Given the description of an element on the screen output the (x, y) to click on. 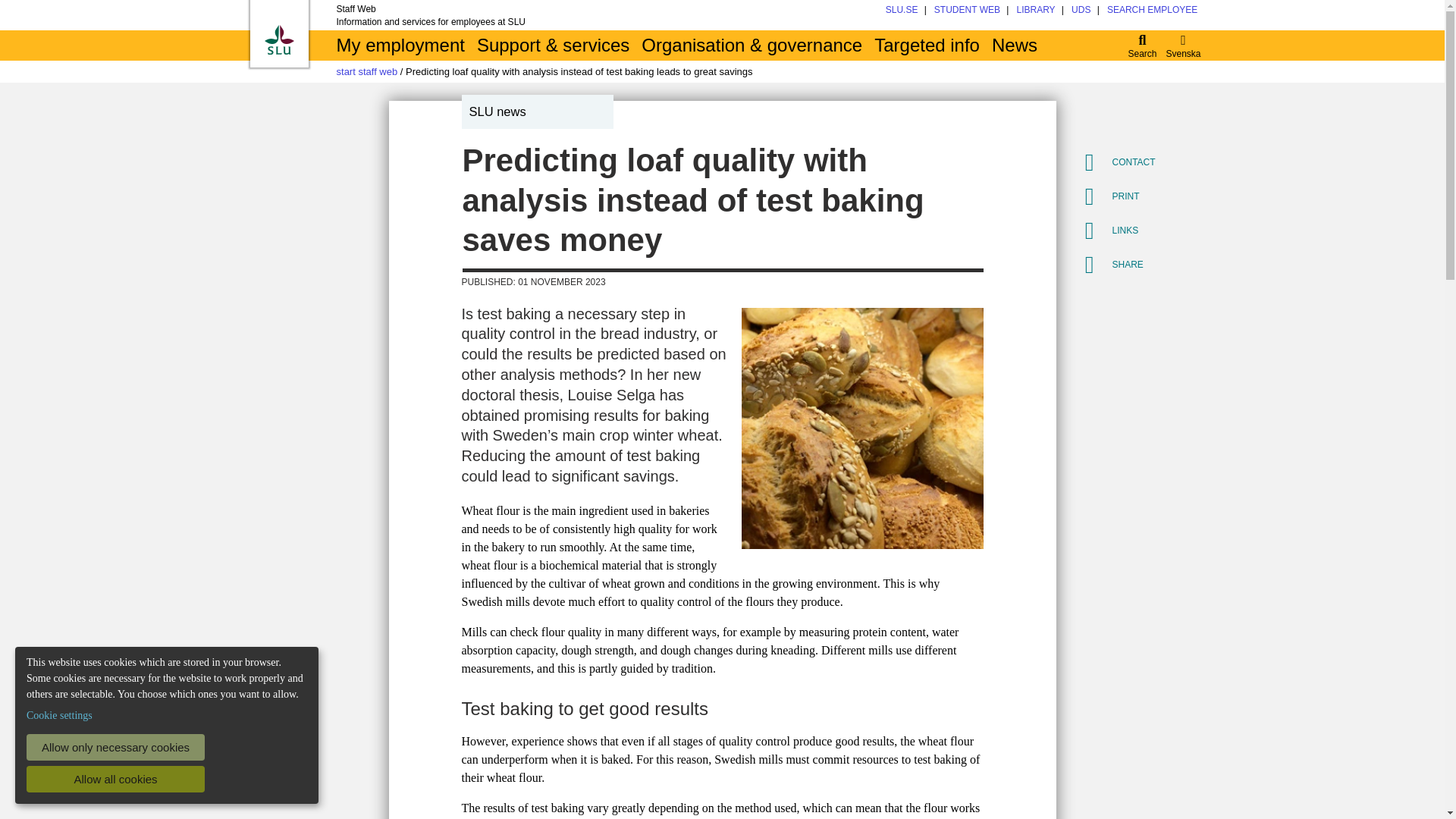
Cookie settings (59, 715)
UDS (1080, 9)
Allow only necessary cookies (115, 746)
SLU.SE (901, 9)
LIBRARY (1035, 9)
My employment (400, 45)
Swedish University of Agricultural Sciences logo (278, 39)
STUDENT WEB (967, 9)
Svenska (1183, 45)
Search (1142, 45)
